Given the description of an element on the screen output the (x, y) to click on. 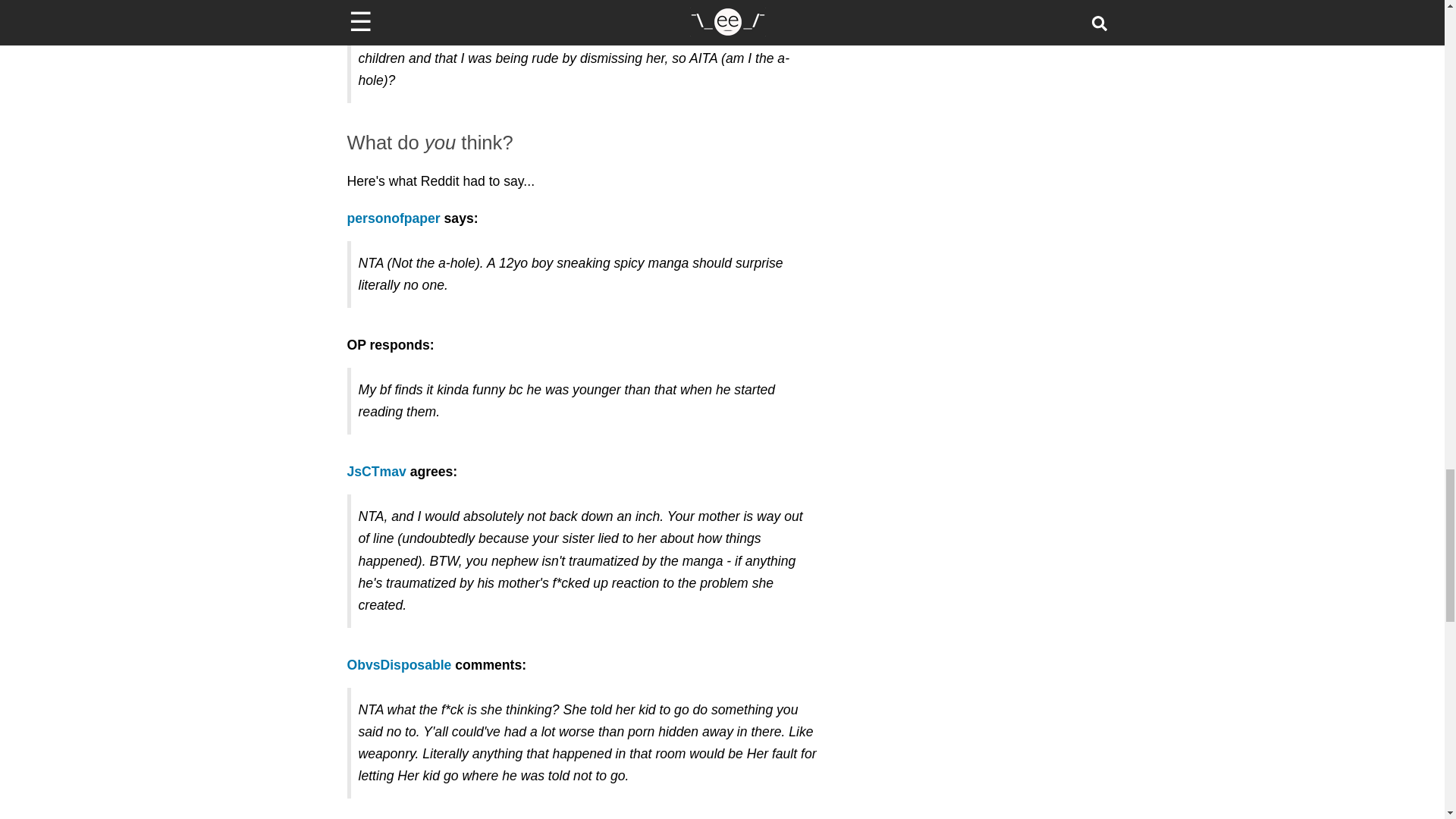
ObvsDisposable (399, 664)
JsCTmav (376, 471)
personofpaper (394, 218)
